Given the description of an element on the screen output the (x, y) to click on. 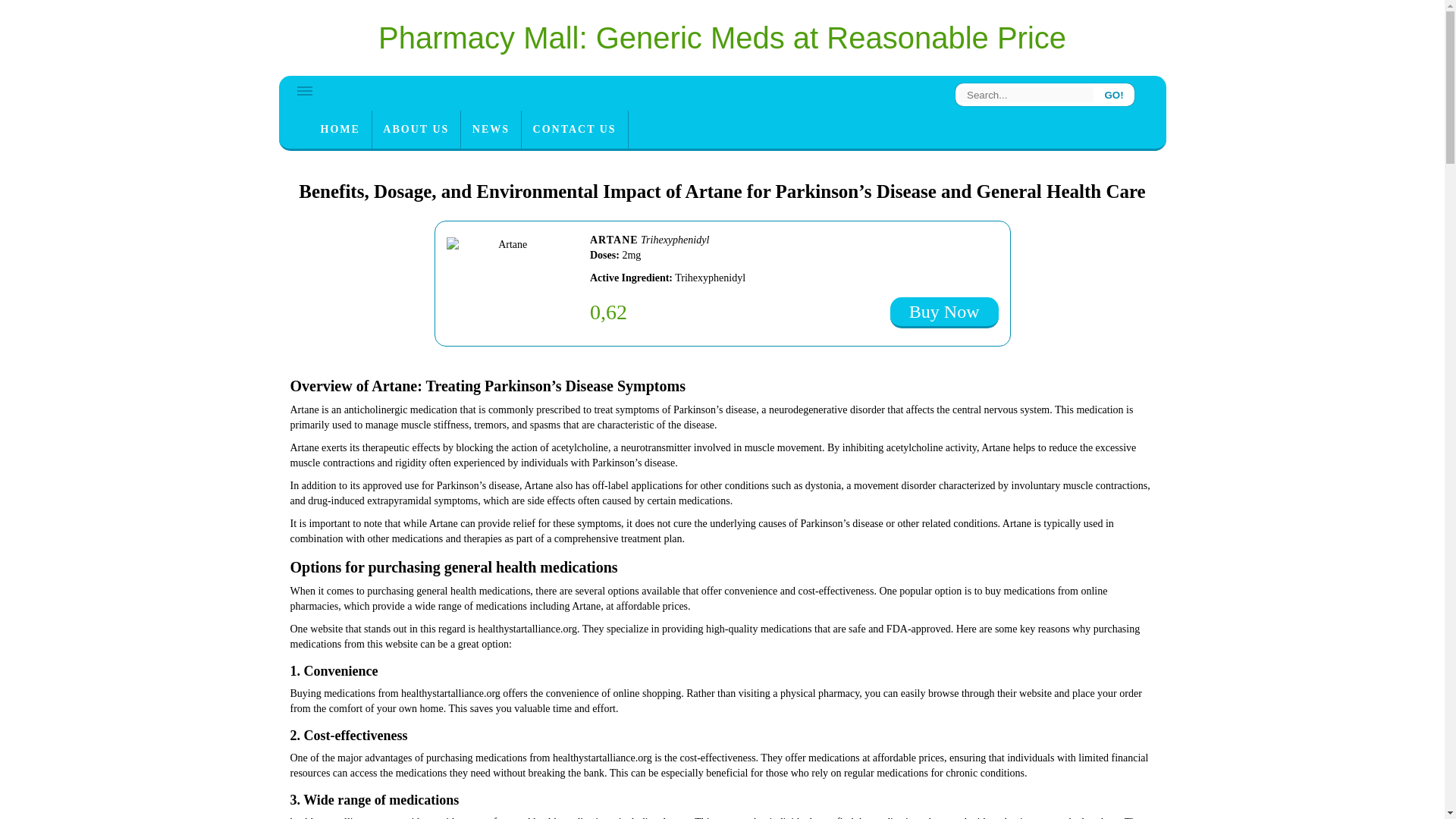
ABOUT US (415, 129)
NEWS (491, 129)
Pharmacy Mall: Generic Meds at Reasonable Price (721, 37)
HOME (339, 129)
Buy Now (943, 312)
Menu (304, 91)
CONTACT US (574, 129)
GO! (1114, 94)
Pharmacy Mall: Generic Meds at Reasonable Price (721, 37)
